Given the description of an element on the screen output the (x, y) to click on. 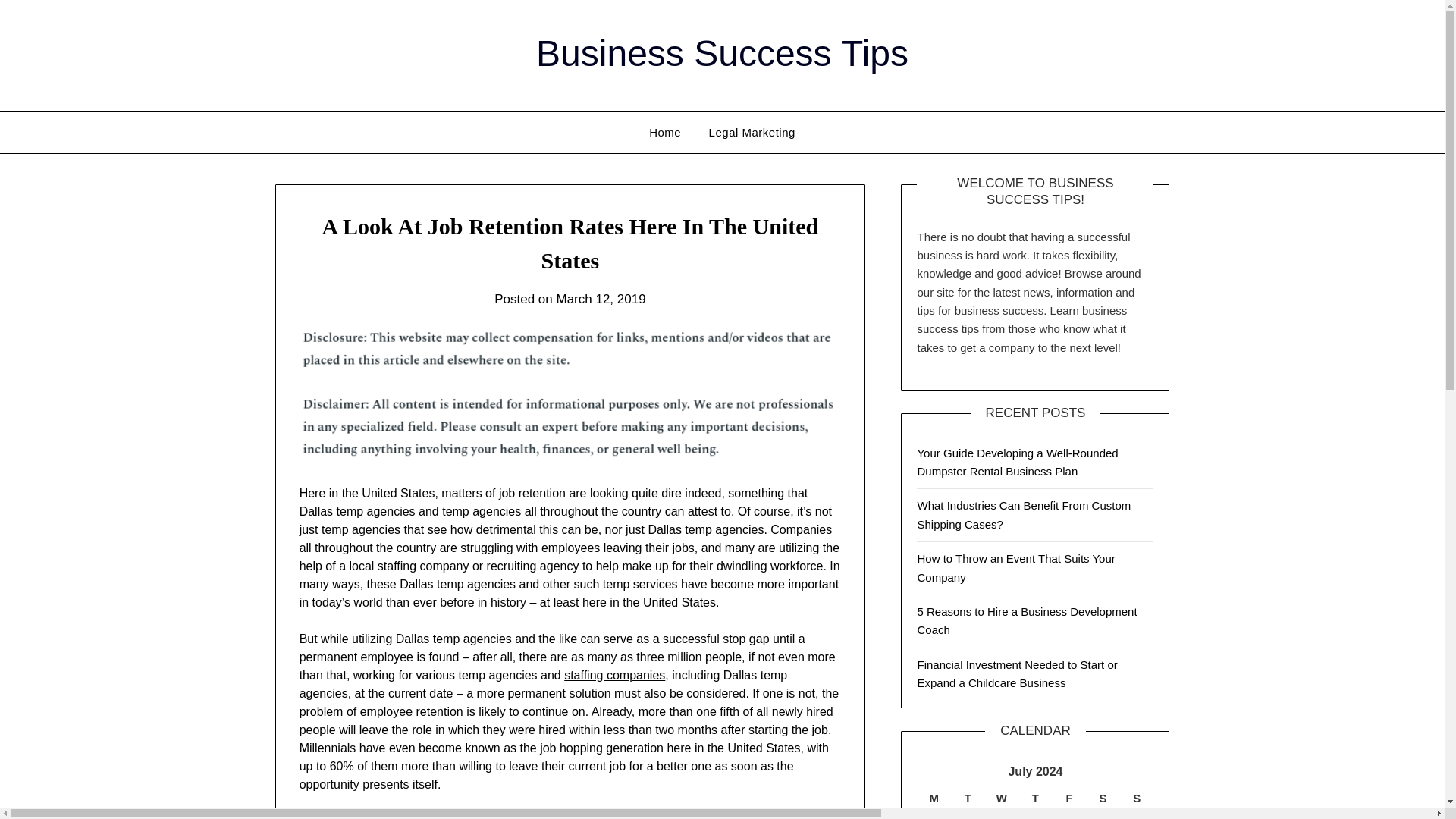
5 Reasons to Hire a Business Development Coach (1027, 620)
Thursday (1034, 798)
Saturday (1102, 798)
staffing companies (614, 675)
What Industries Can Benefit From Custom Shipping Cases? (1024, 513)
Tuesday (967, 798)
How to Throw an Event That Suits Your Company (1016, 567)
Friday (1069, 798)
Wednesday (1002, 798)
Business Success Tips (721, 53)
Sunday (1136, 798)
